Given the description of an element on the screen output the (x, y) to click on. 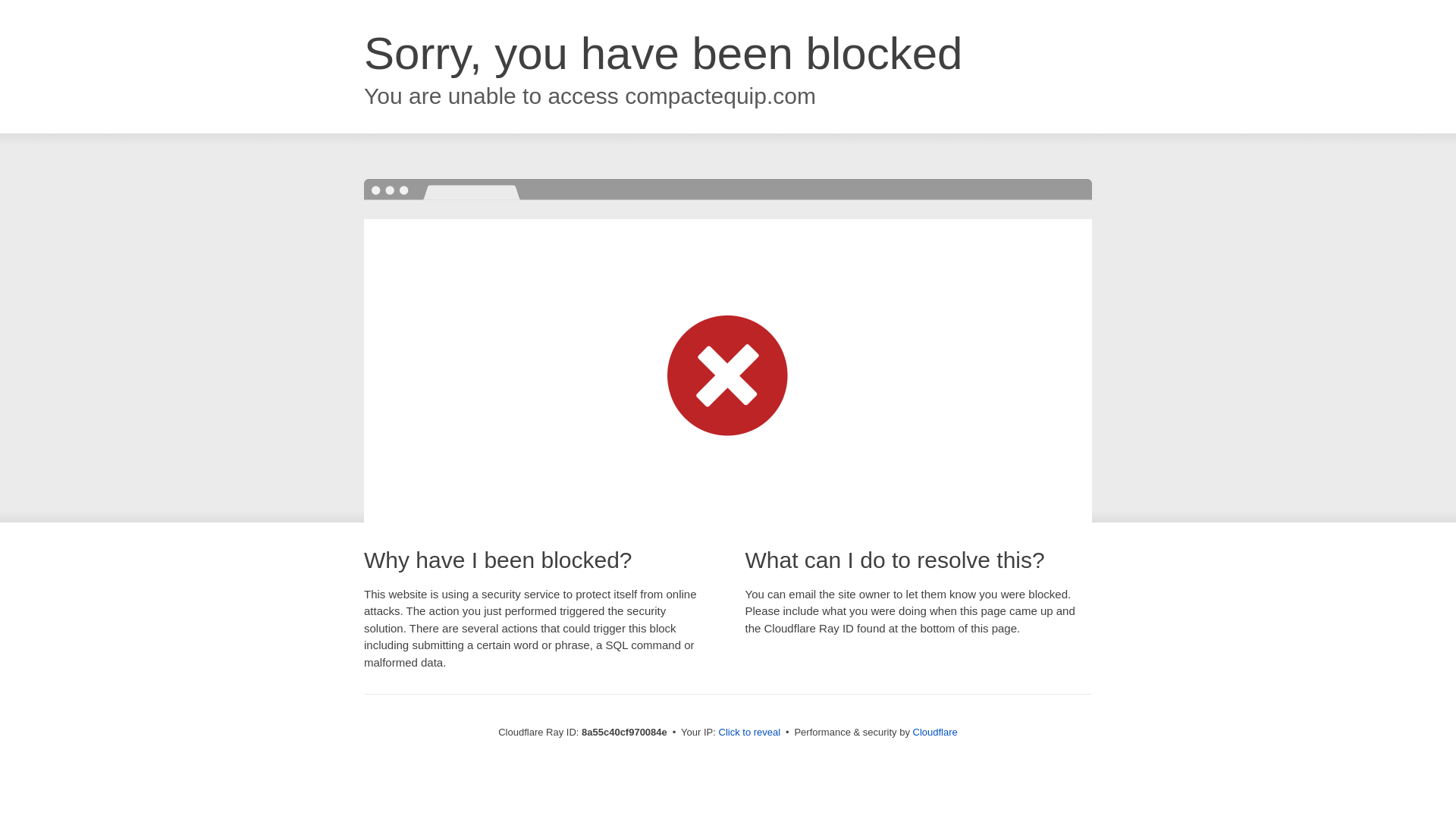
Click to reveal (749, 732)
Cloudflare (935, 731)
